Given the description of an element on the screen output the (x, y) to click on. 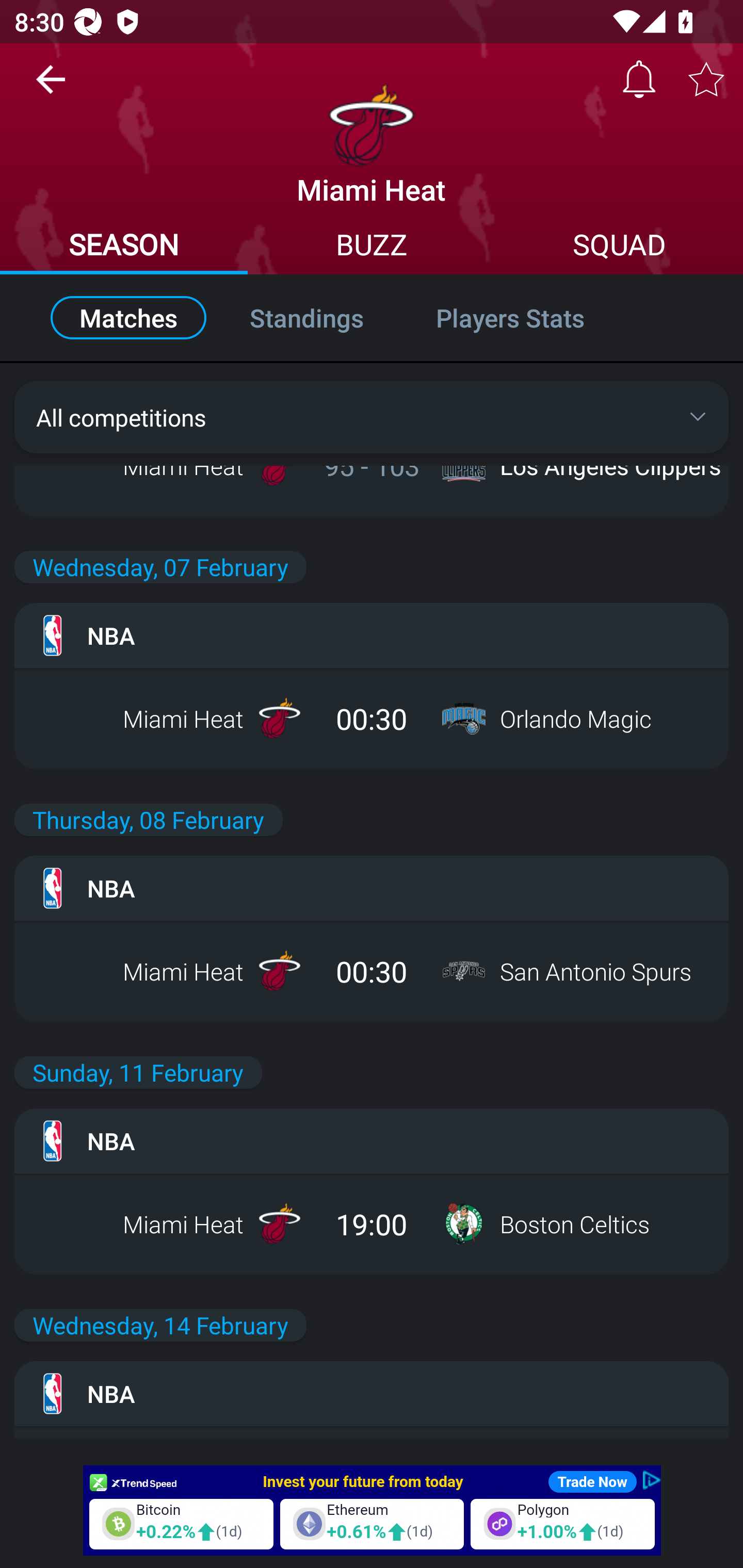
Navigate up (50, 86)
SEASON (123, 246)
BUZZ (371, 246)
SQUAD (619, 246)
Standings (306, 317)
Players Stats (531, 317)
All competitions (371, 417)
NBA (371, 635)
Miami Heat 00:30 Orlando Magic (371, 717)
NBA (371, 888)
Miami Heat 00:30 San Antonio Spurs (371, 971)
NBA (371, 1140)
Miami Heat 19:00 Boston Celtics (371, 1223)
NBA (371, 1393)
privacy (651, 1479)
bitcoin Bitcoin +0.22% . (1d) (181, 1523)
ethereum Ethereum +0.61% . (1d) (371, 1523)
polygon Polygon +1.00% . (1d) (562, 1523)
